Given the description of an element on the screen output the (x, y) to click on. 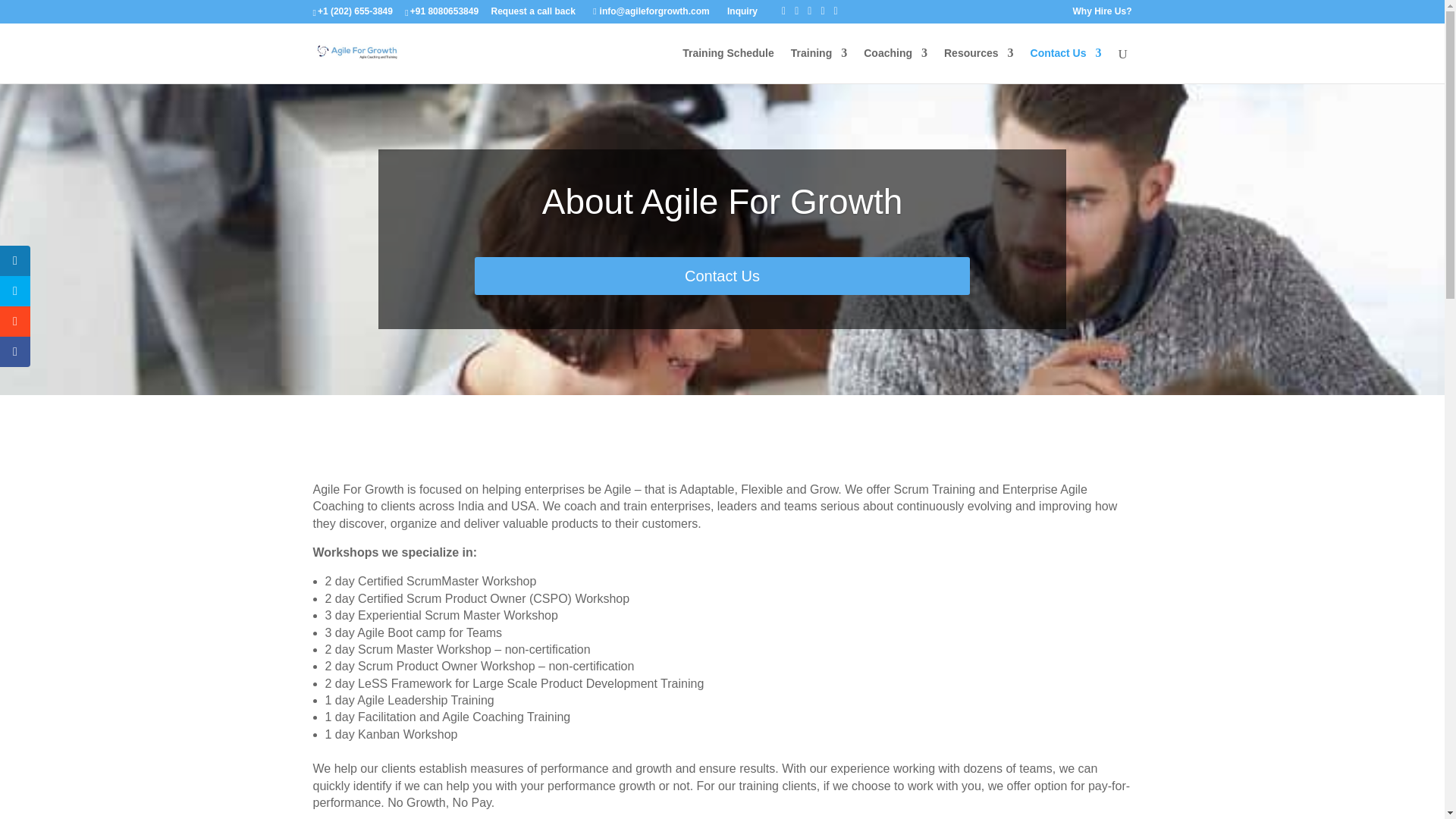
Request a call back (532, 10)
Coaching (895, 65)
Training (818, 65)
Contact Us (1066, 65)
Training Schedule (728, 65)
Resources (978, 65)
Why Hire Us? (1101, 10)
Inquiry (741, 10)
